Given the description of an element on the screen output the (x, y) to click on. 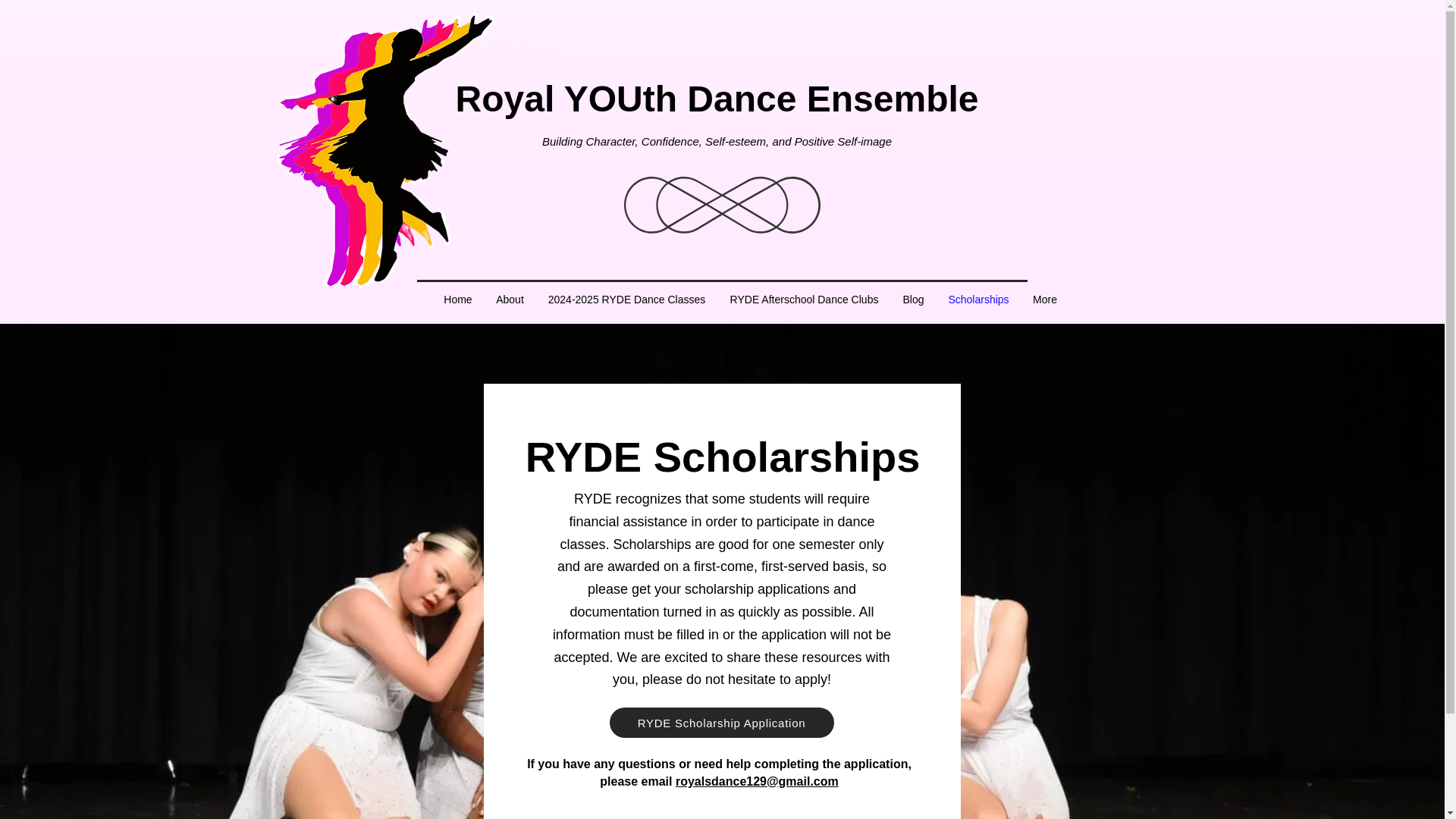
Home (458, 299)
RYDE Afterschool Dance Clubs (803, 299)
Blog (912, 299)
Scholarships (978, 299)
2024-2025 RYDE Dance Classes (626, 299)
About (509, 299)
RYDE Scholarship Application (722, 722)
